Given the description of an element on the screen output the (x, y) to click on. 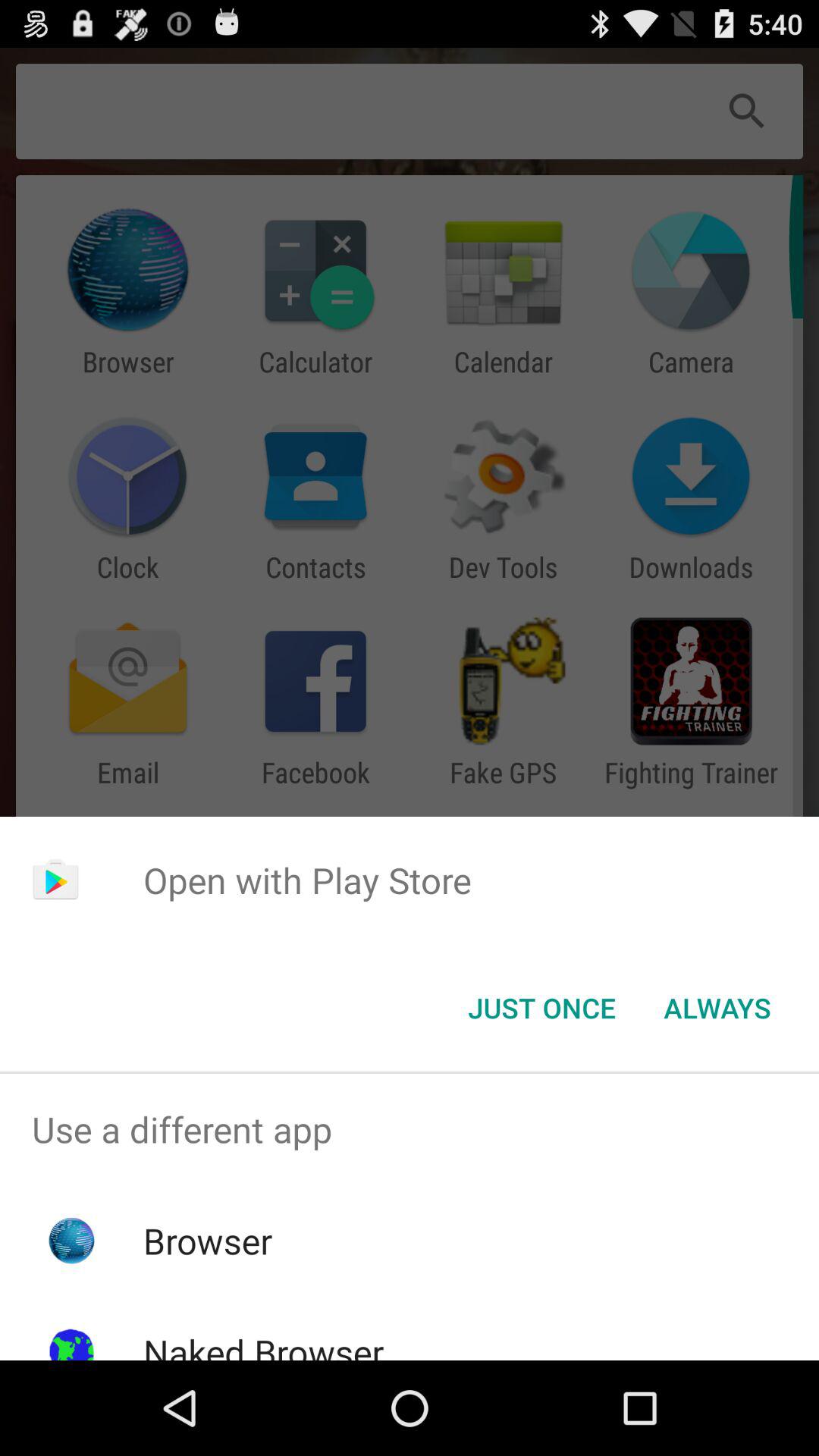
scroll until the use a different icon (409, 1129)
